Given the description of an element on the screen output the (x, y) to click on. 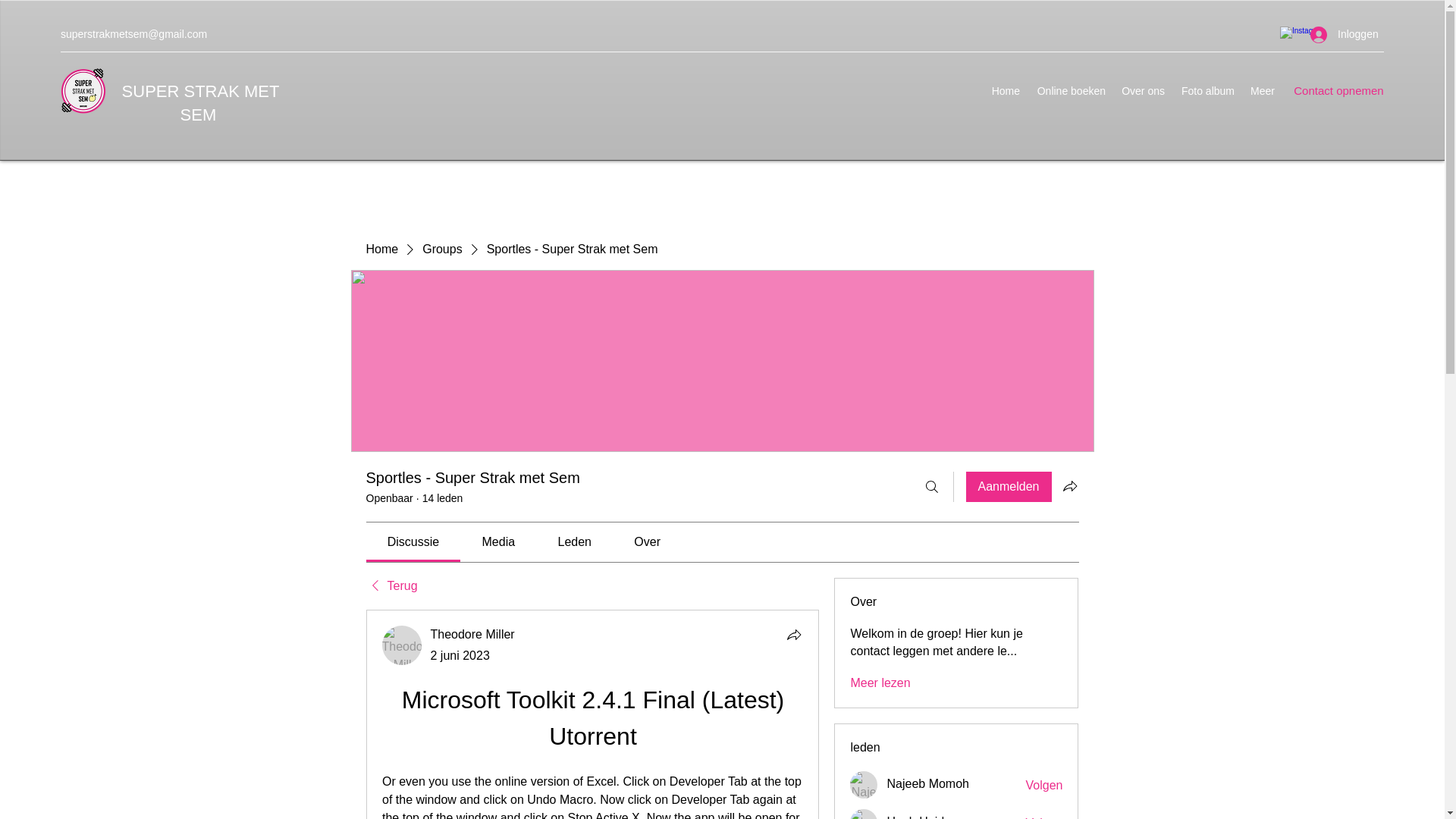
MET SEM  (229, 102)
Contact opnemen (1338, 91)
Terug (390, 586)
Theodore Miller (472, 634)
Honh Huide (863, 814)
Online boeken (1070, 90)
Home (1005, 90)
Home (381, 248)
Volgen (1044, 816)
Najeeb Momoh (927, 783)
